Given the description of an element on the screen output the (x, y) to click on. 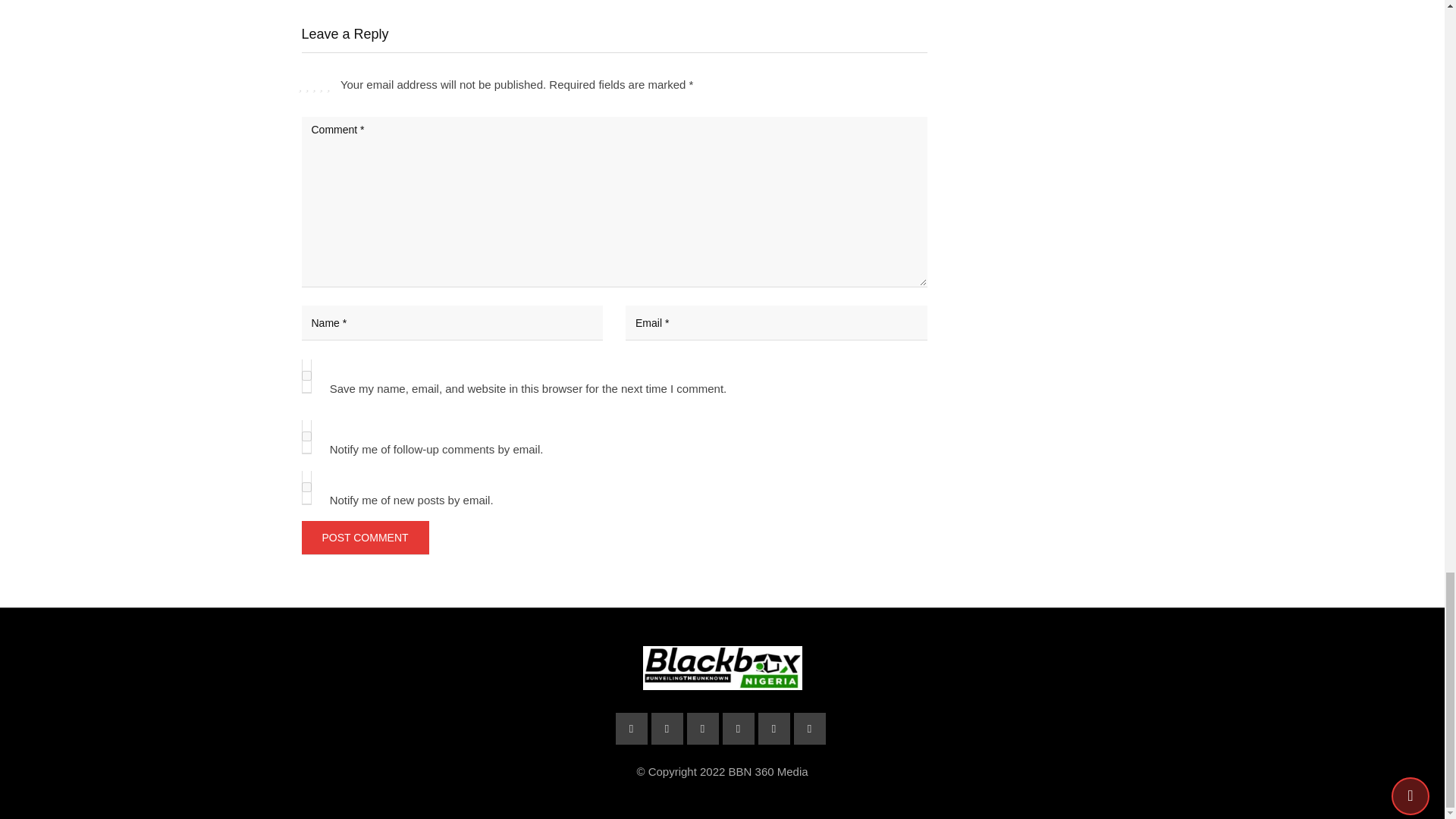
Post Comment (365, 537)
